Given the description of an element on the screen output the (x, y) to click on. 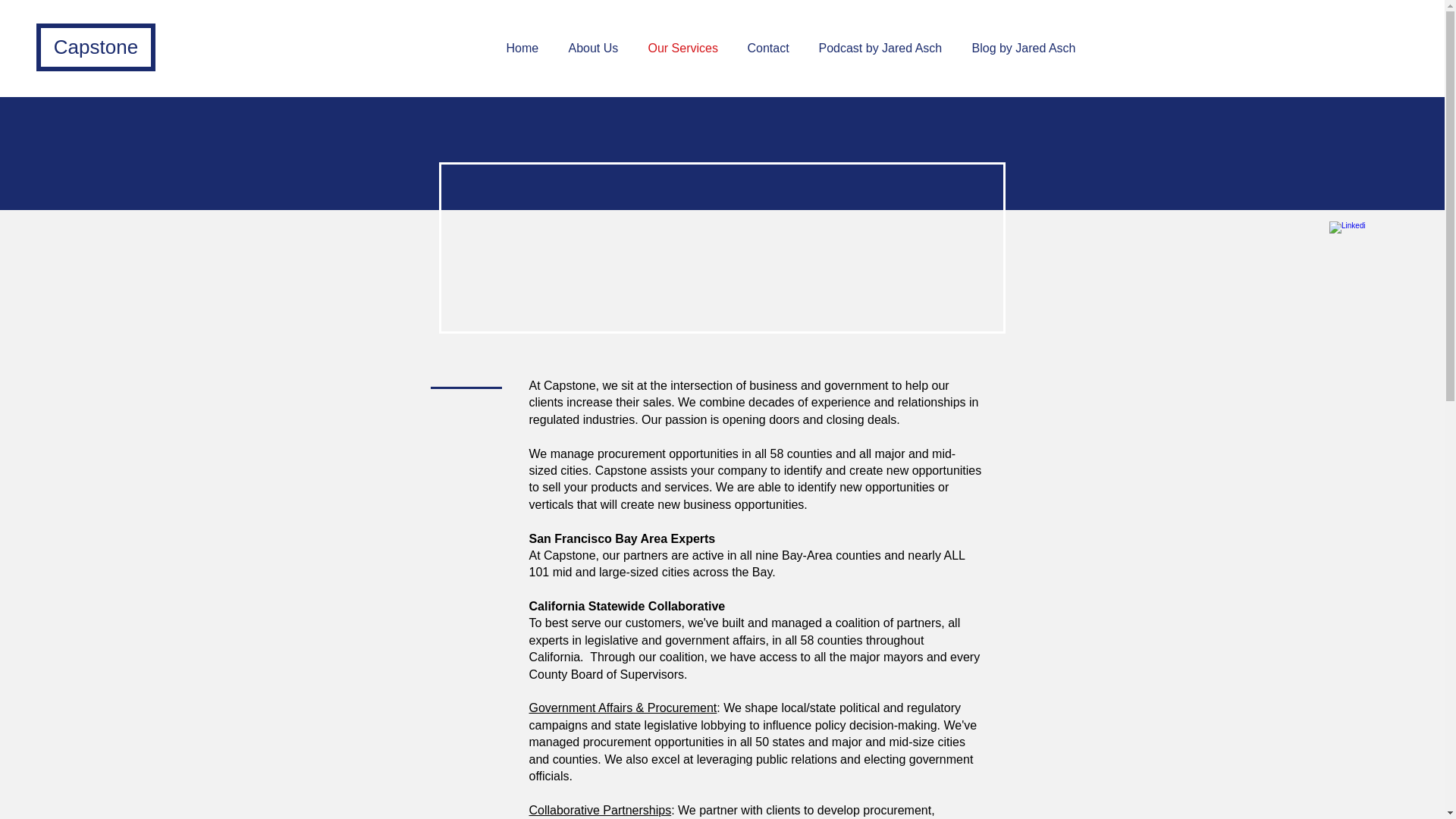
Capstone (95, 47)
Podcast by Jared Asch (882, 48)
Our Services (686, 48)
Contact (770, 48)
Blog by Jared Asch (1026, 48)
About Us (596, 48)
Home (525, 48)
